Given the description of an element on the screen output the (x, y) to click on. 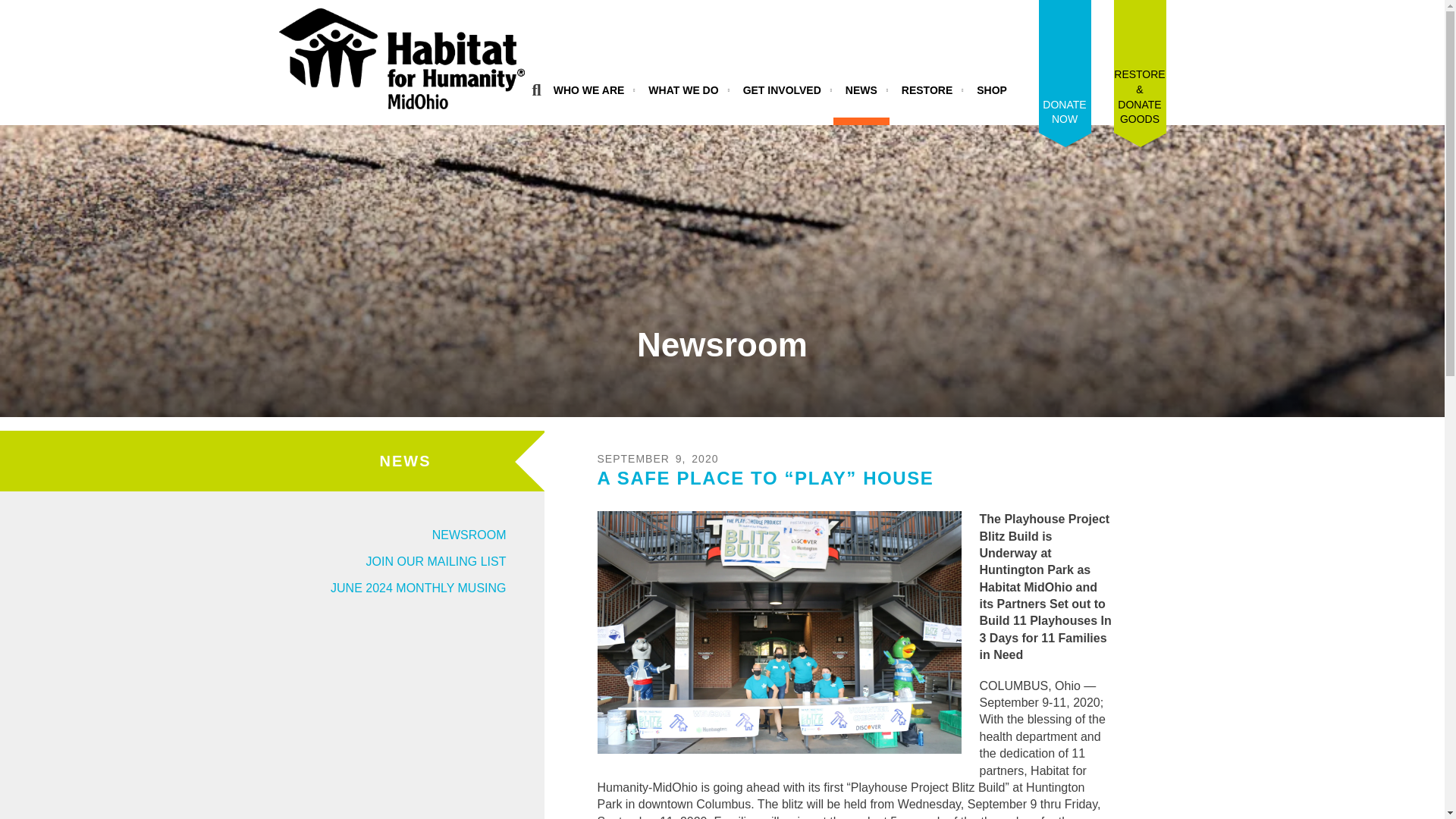
logo (401, 62)
